Given the description of an element on the screen output the (x, y) to click on. 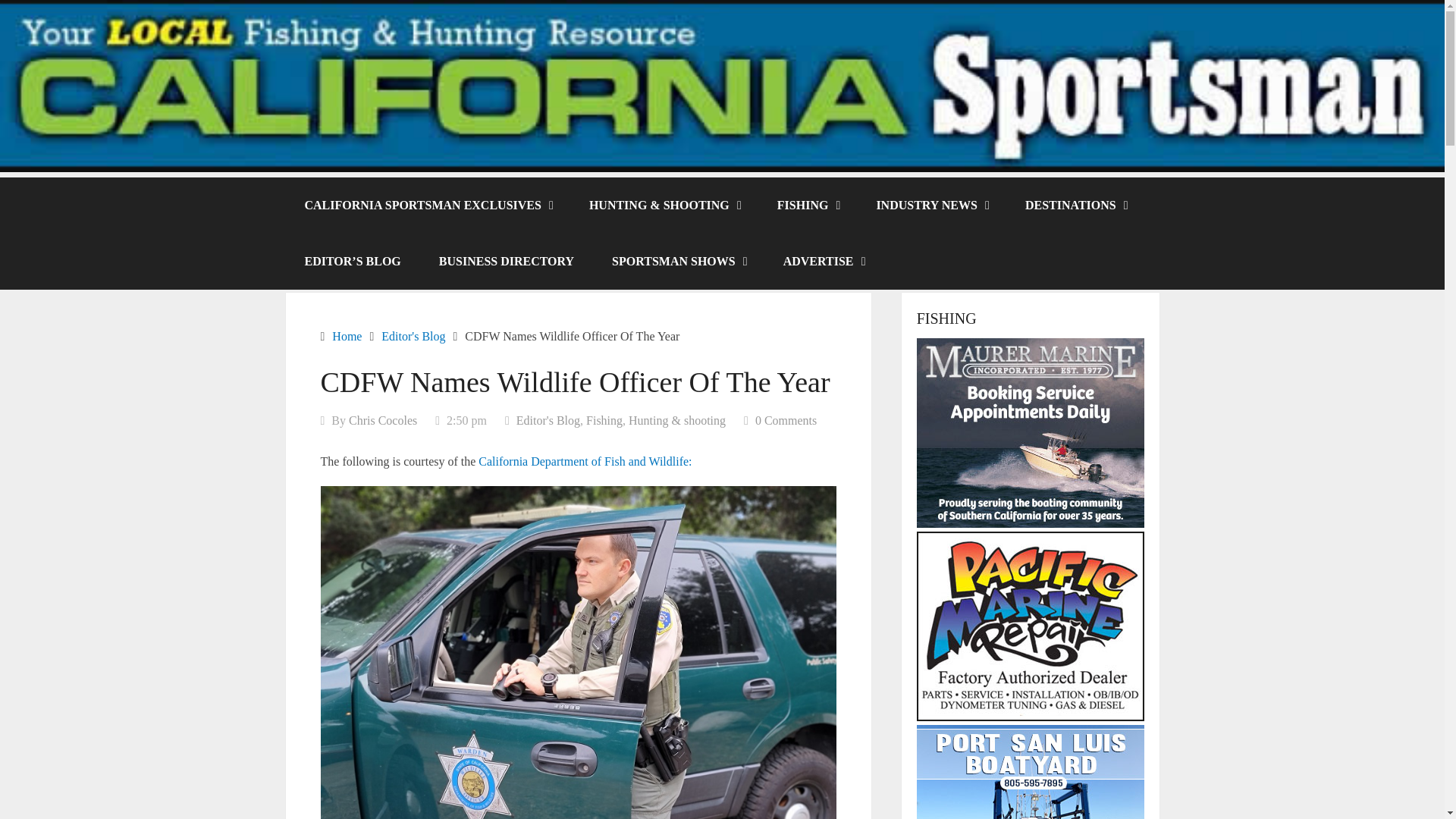
Chris Cocoles (382, 420)
ADVERTISE (823, 261)
INDUSTRY NEWS (931, 205)
Editor's Blog (547, 420)
BUSINESS DIRECTORY (506, 261)
FISHING (807, 205)
SPORTSMAN SHOWS (678, 261)
0 Comments (785, 420)
Editor's Blog (413, 336)
Home (346, 336)
California Department of Fish and Wildlife: (585, 461)
Posts by Chris Cocoles (382, 420)
Fishing (604, 420)
CALIFORNIA SPORTSMAN EXCLUSIVES (427, 205)
DESTINATIONS (1075, 205)
